Given the description of an element on the screen output the (x, y) to click on. 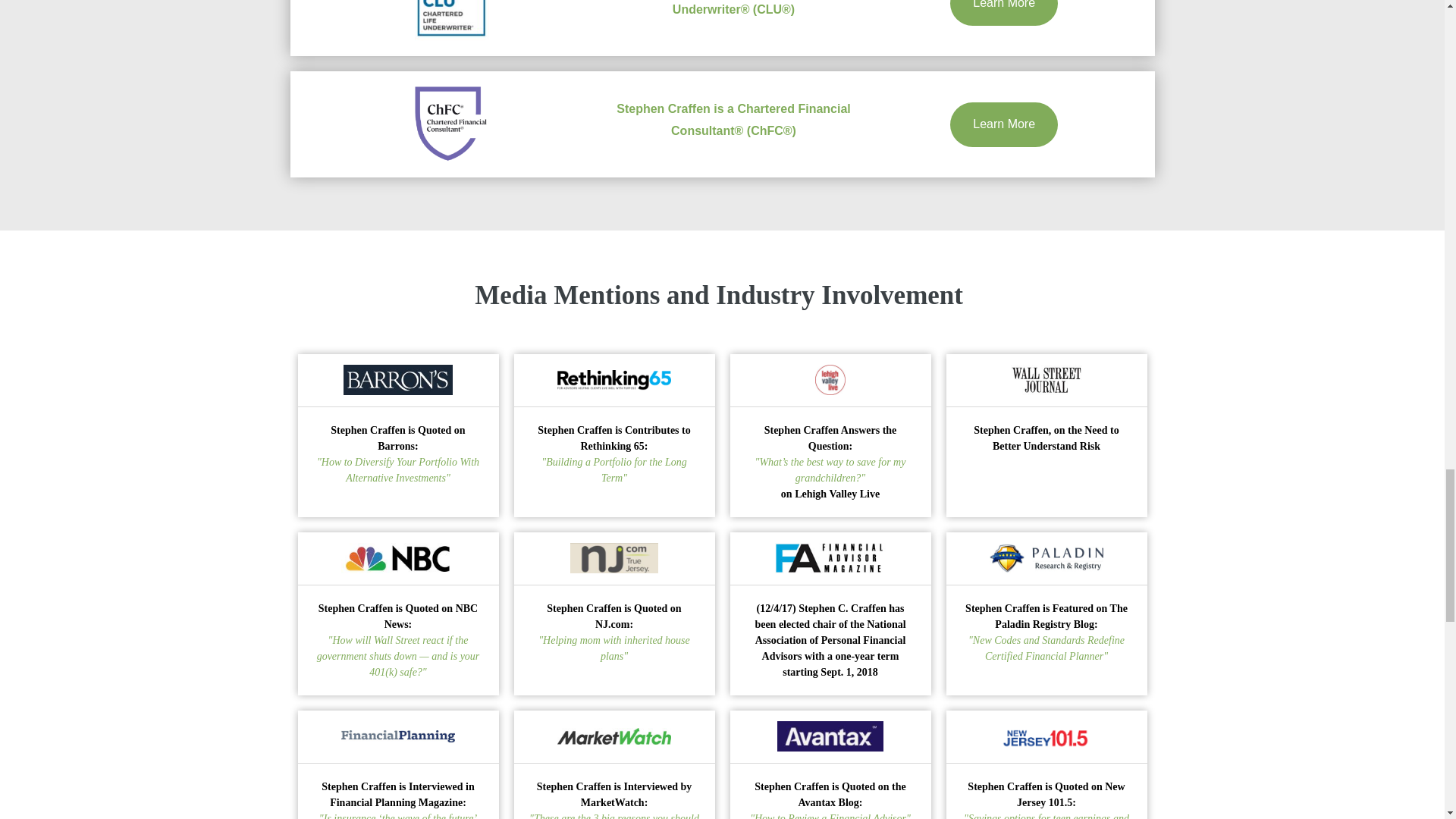
MarketWatch (614, 736)
Wall Street Journal (1045, 379)
barrons (397, 379)
Rethinking (614, 380)
lvl (830, 379)
Stephen Craffen, on the Need to Better Understand Risk (1046, 411)
FinancialPlanning (397, 736)
FinancialAdvisorMag (829, 557)
NBC News (397, 557)
